Given the description of an element on the screen output the (x, y) to click on. 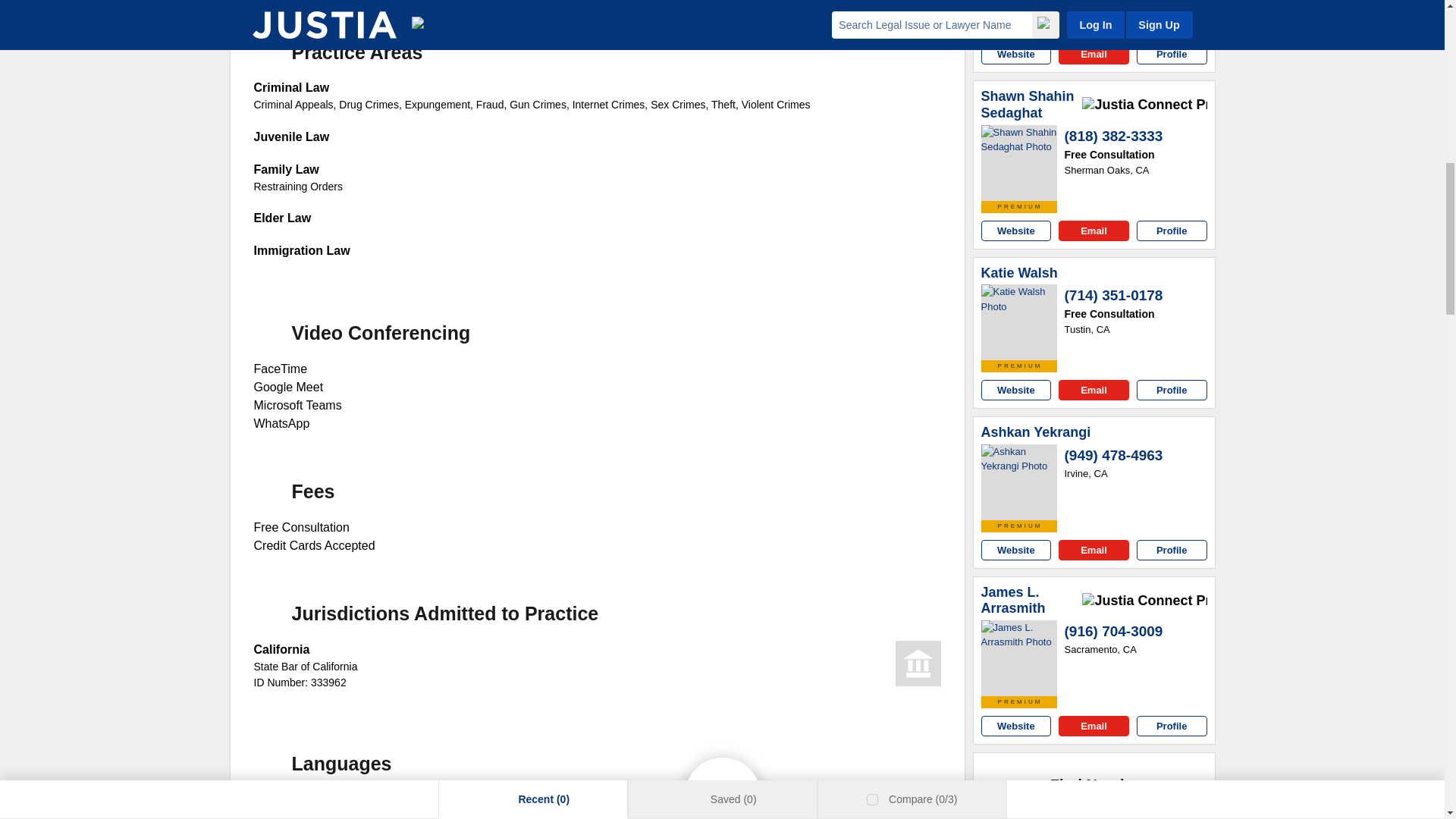
Shawn Shahin Sedaghat (1029, 104)
Shawn Shahin Sedaghat (1019, 162)
Ryan Rodriguez (1019, 12)
